Given the description of an element on the screen output the (x, y) to click on. 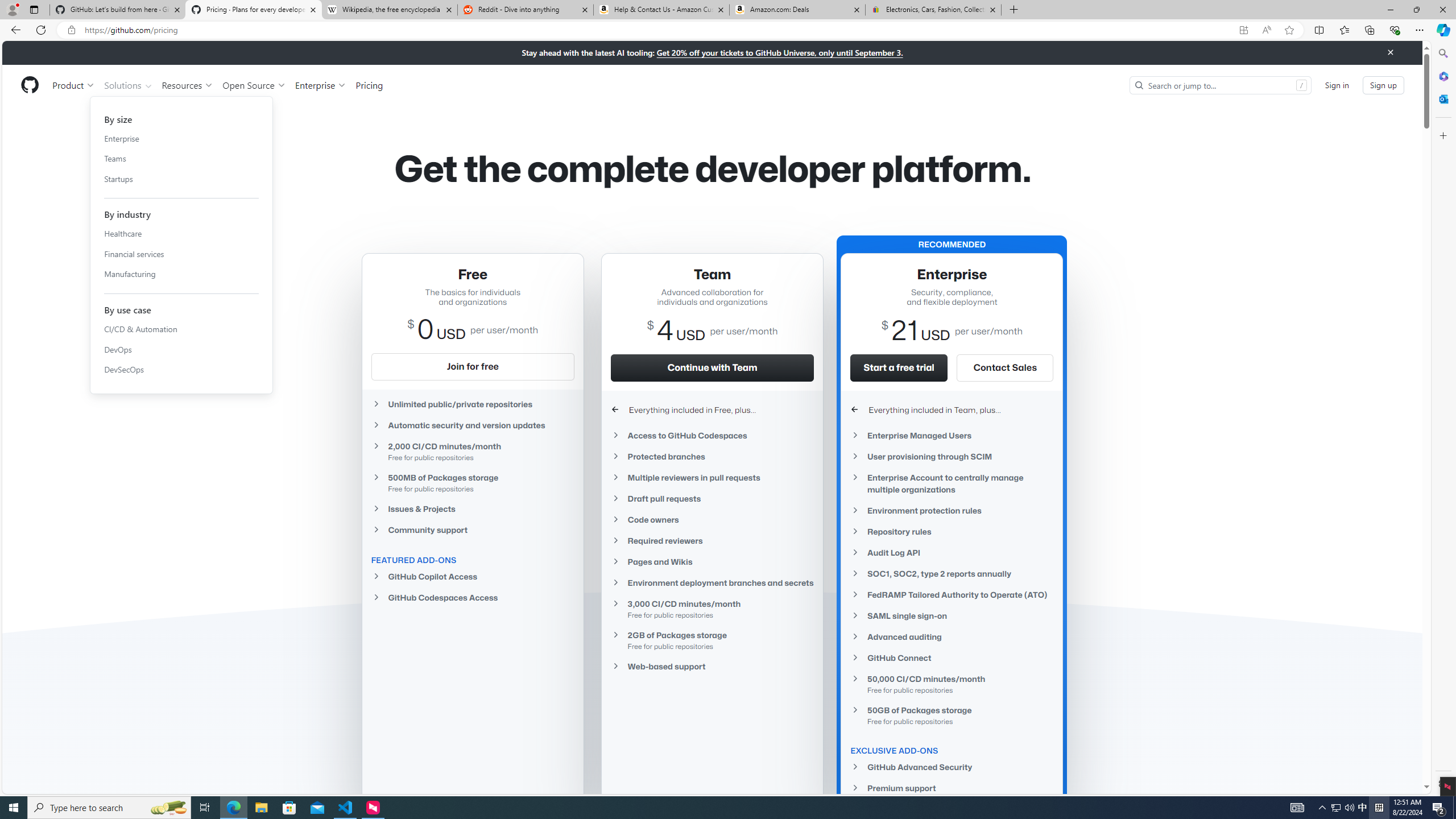
Start a free trial (898, 367)
FedRAMP Tailored Authority to Operate (ATO) (952, 594)
2GB of Packages storage Free for public repositories (711, 640)
SAML single sign-on (952, 615)
GitHub Copilot Access (473, 576)
DevSecOps (181, 369)
Product (74, 84)
Environment deployment branches and secrets (711, 582)
Advanced auditing (952, 636)
User provisioning through SCIM (952, 456)
